Given the description of an element on the screen output the (x, y) to click on. 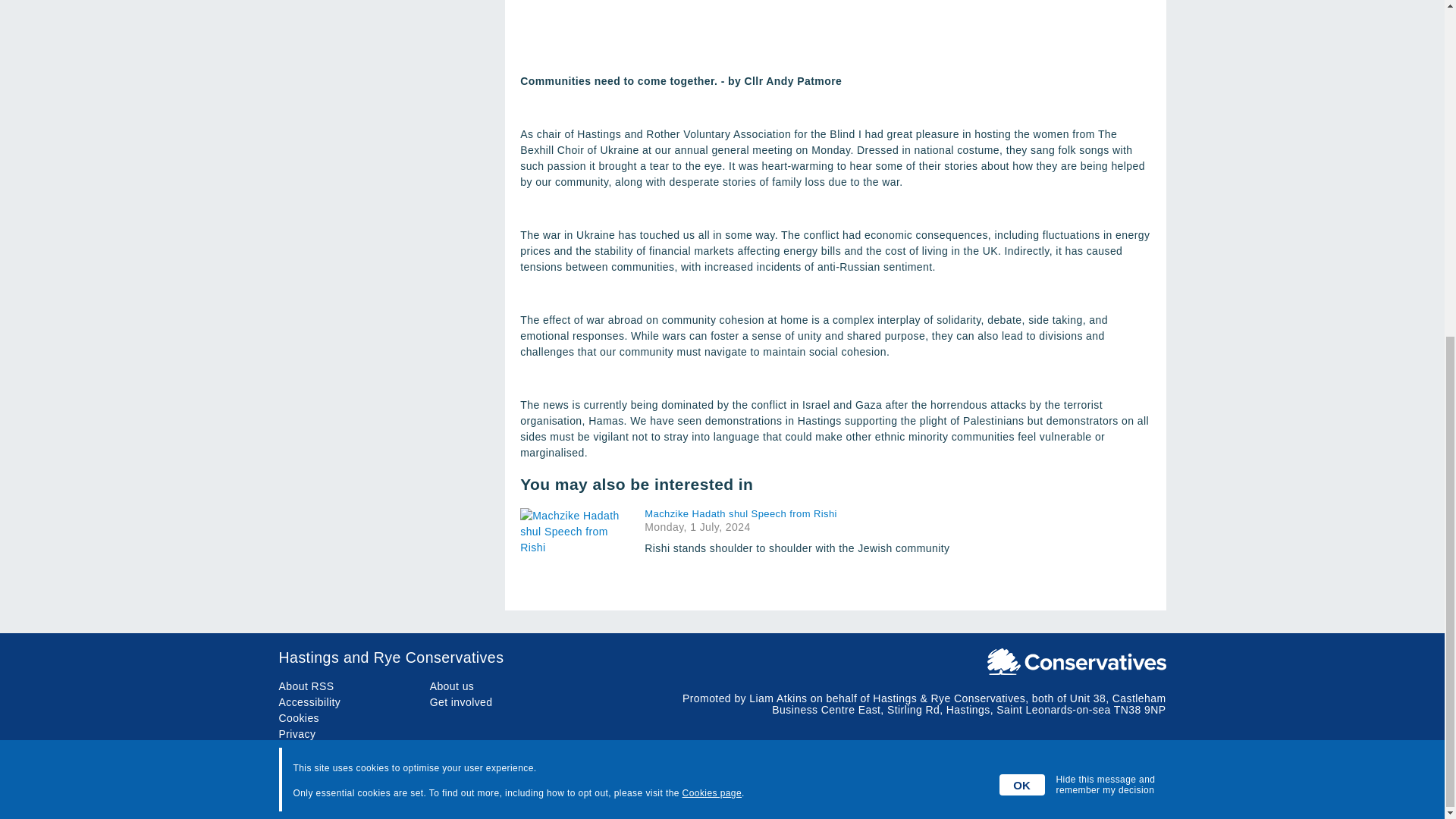
Bluetree (1145, 793)
Accessibility (309, 702)
Machzike Hadath shul Speech from Rishi (576, 545)
About us (451, 686)
About RSS (306, 686)
Privacy (297, 734)
Get involved (461, 702)
OK (1021, 216)
Cookies page (711, 225)
Machzike Hadath shul Speech from Rishi (797, 513)
Hastings and Rye Conservatives (722, 657)
Cookies (299, 717)
